Given the description of an element on the screen output the (x, y) to click on. 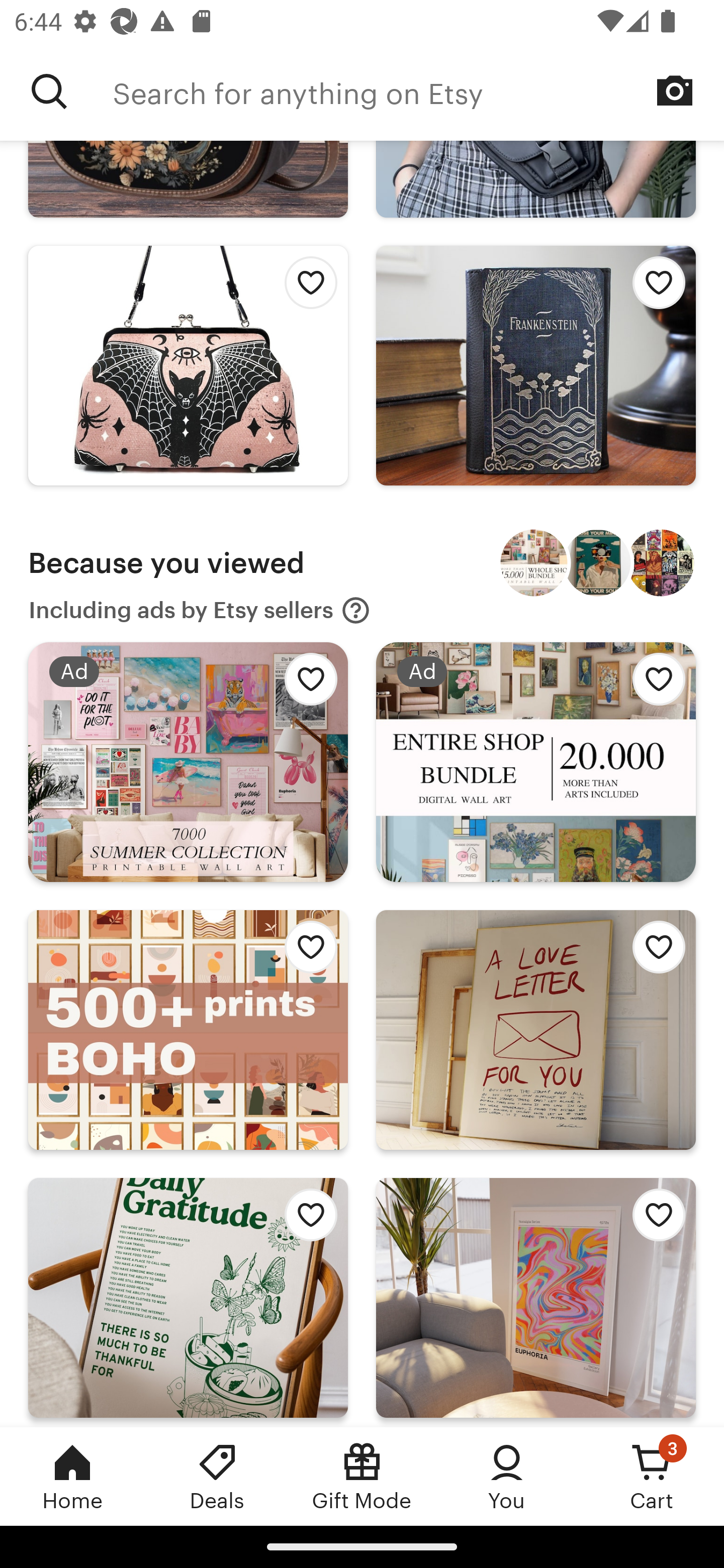
Search for anything on Etsy (49, 91)
Search by image (674, 90)
Search for anything on Etsy (418, 91)
Including ads by Etsy sellers (199, 610)
Deals (216, 1475)
Gift Mode (361, 1475)
You (506, 1475)
Cart, 3 new notifications Cart (651, 1475)
